Given the description of an element on the screen output the (x, y) to click on. 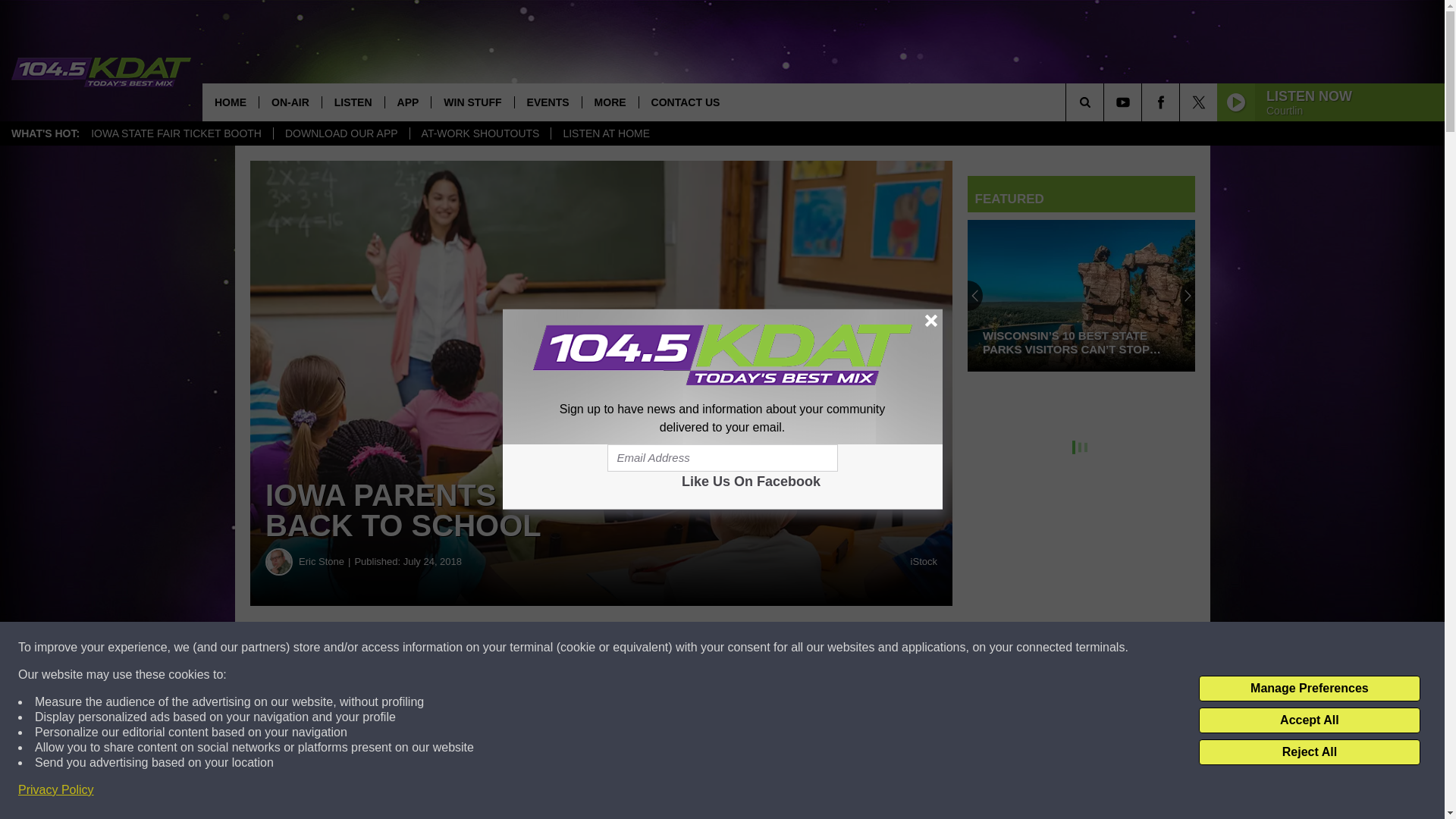
Share on Facebook (460, 647)
Email Address (722, 457)
LISTEN (352, 102)
DOWNLOAD OUR APP (341, 133)
Manage Preferences (1309, 688)
AT-WORK SHOUTOUTS (480, 133)
ON-AIR (290, 102)
IOWA STATE FAIR TICKET BOOTH (176, 133)
SEARCH (1106, 102)
EVENTS (546, 102)
SEARCH (1106, 102)
LISTEN AT HOME (605, 133)
MORE (609, 102)
APP (407, 102)
Share on Twitter (741, 647)
